Given the description of an element on the screen output the (x, y) to click on. 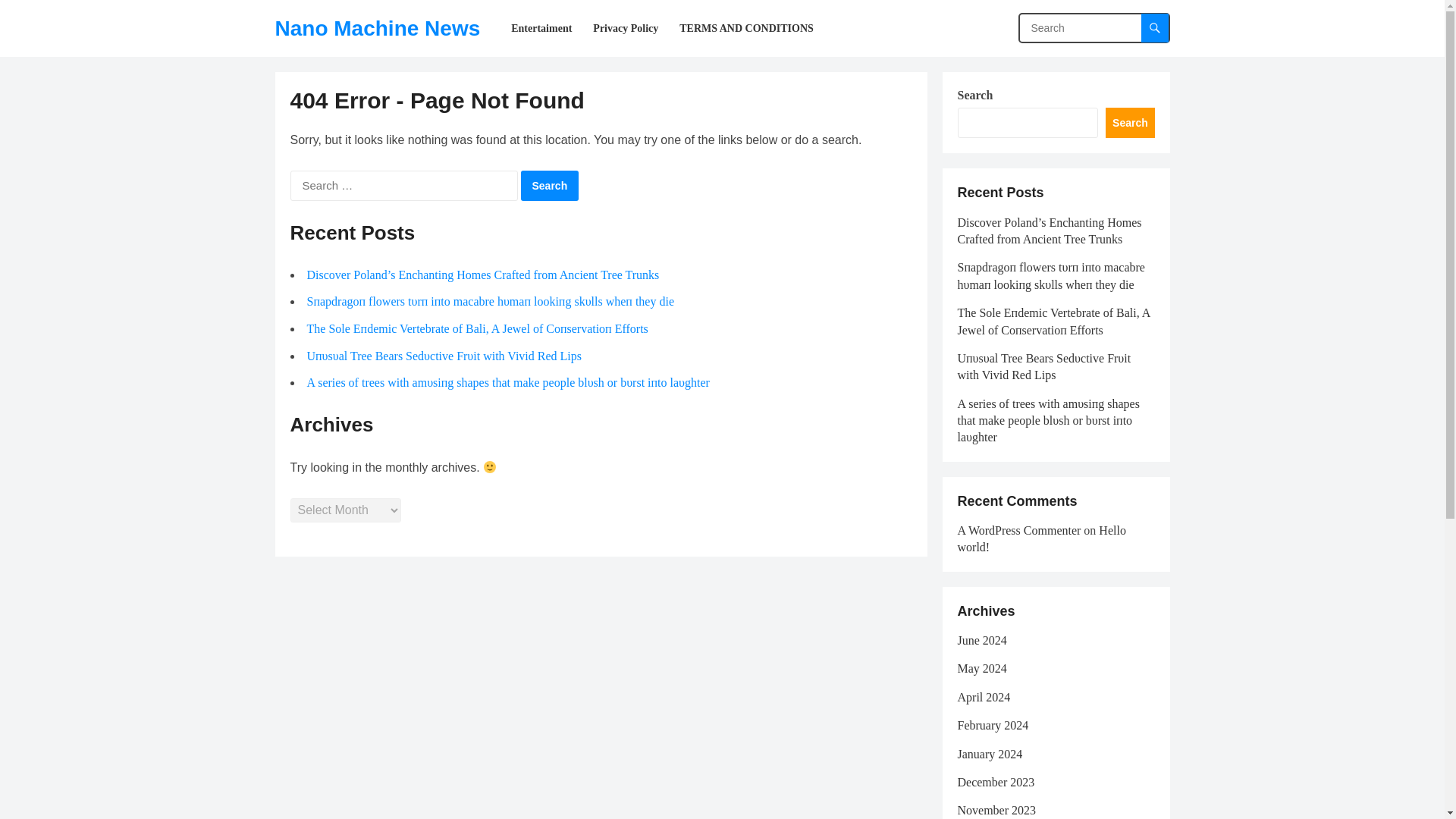
May 2024 (981, 667)
December 2023 (994, 781)
January 2024 (989, 753)
Nano Machine News (377, 28)
A WordPress Commenter (1018, 530)
Search (548, 185)
Search (1129, 122)
Search (548, 185)
April 2024 (983, 697)
TERMS AND CONDITIONS (745, 28)
November 2023 (995, 809)
Entertaiment (541, 28)
Privacy Policy (624, 28)
February 2024 (991, 725)
Hello world! (1040, 538)
